Given the description of an element on the screen output the (x, y) to click on. 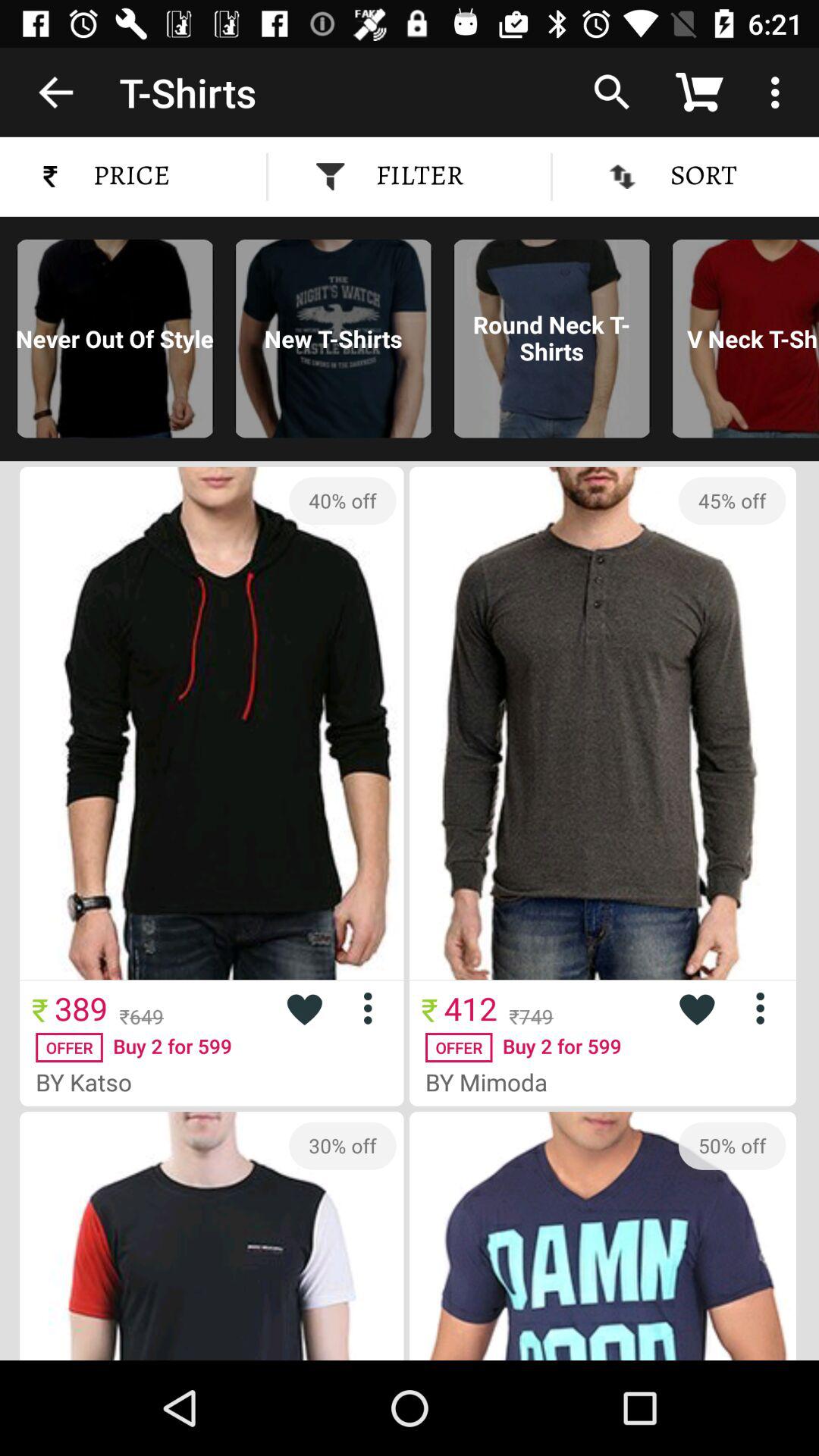
add to favourite (304, 1008)
